Given the description of an element on the screen output the (x, y) to click on. 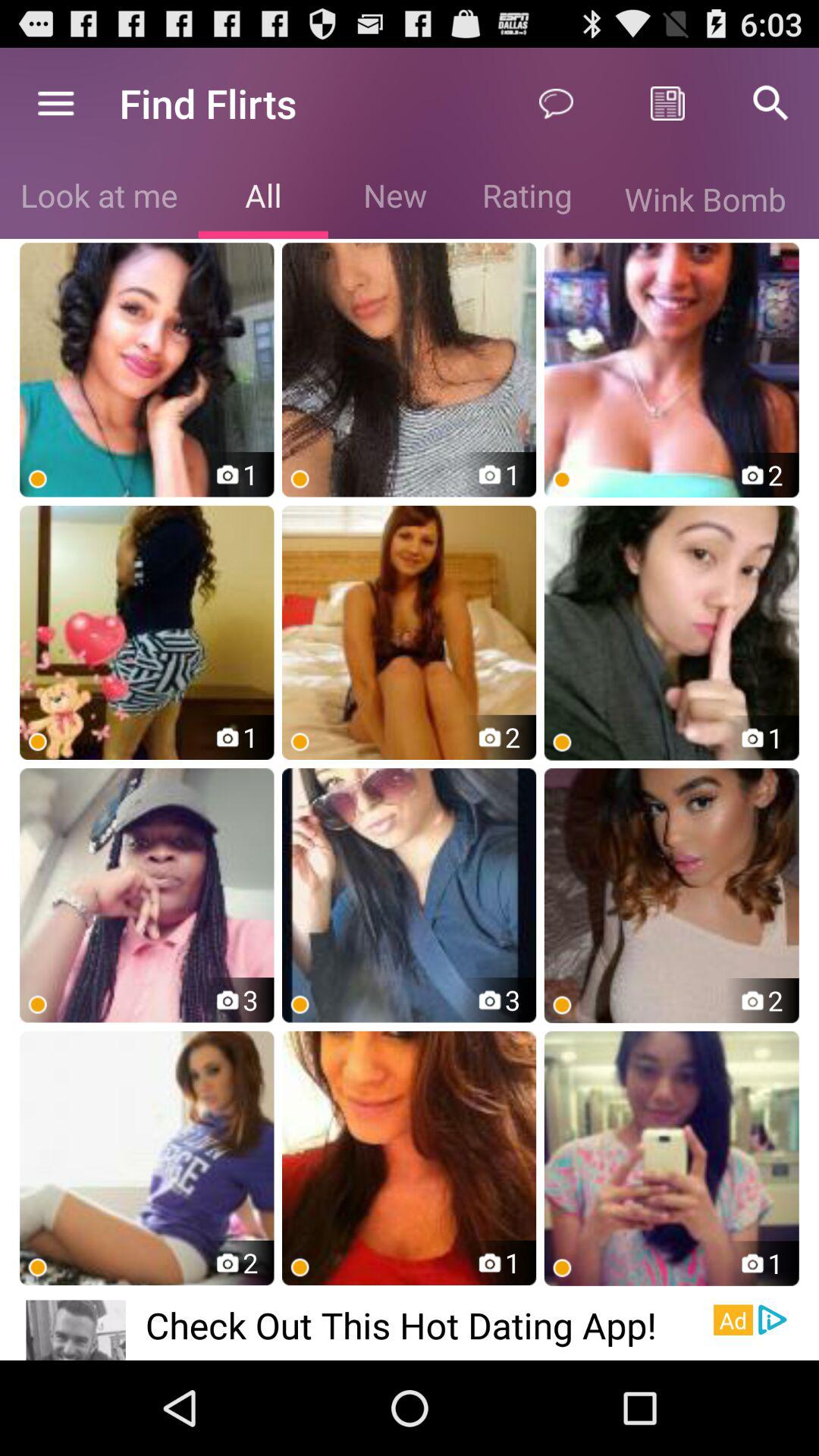
press icon above check out this app (409, 1158)
